Given the description of an element on the screen output the (x, y) to click on. 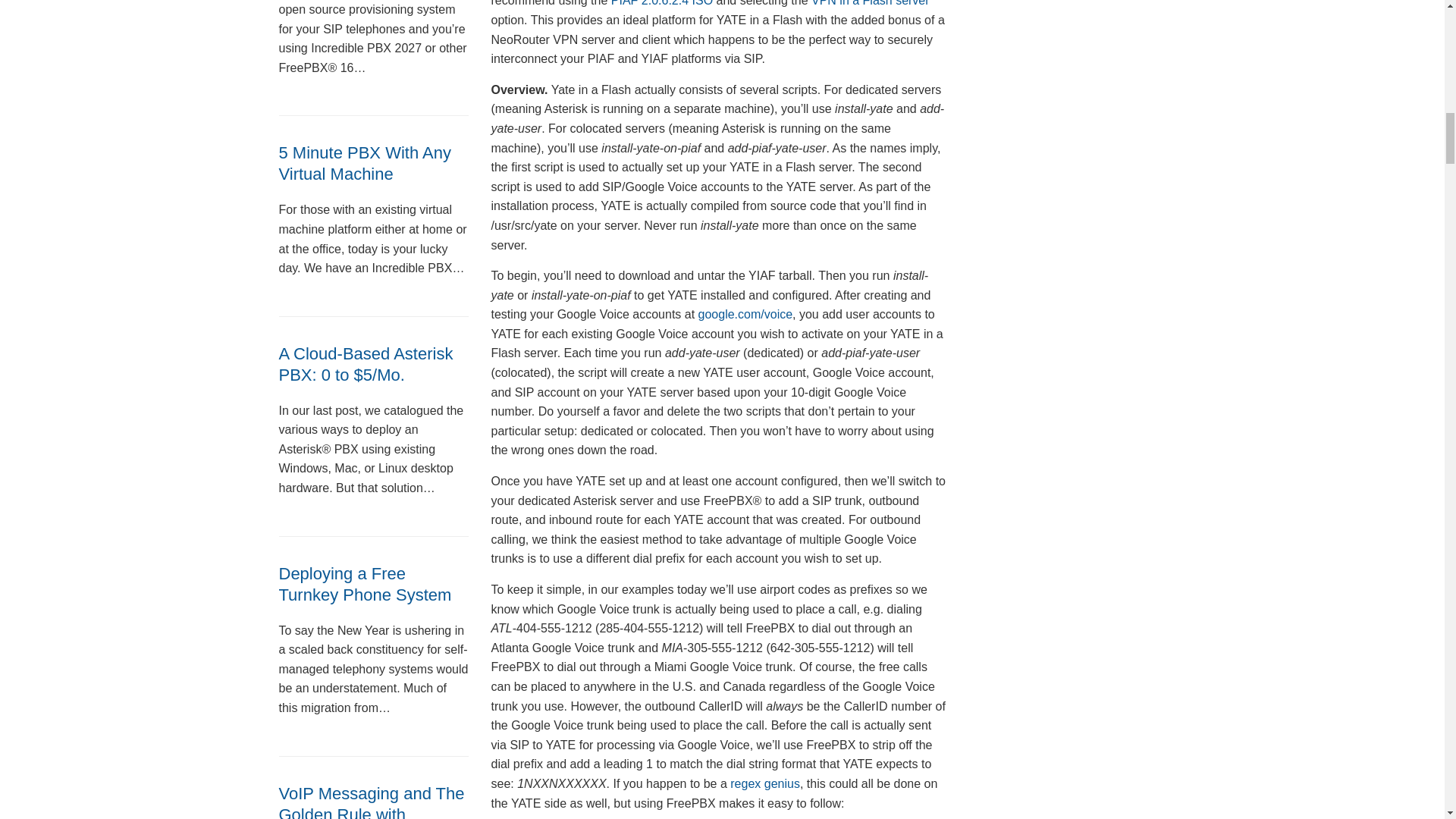
VoIP Messaging and The Golden Rule with Incredible PBX (371, 801)
5 Minute PBX With Any Virtual Machine (365, 163)
Deploying a Free Turnkey Phone System (365, 584)
